Given the description of an element on the screen output the (x, y) to click on. 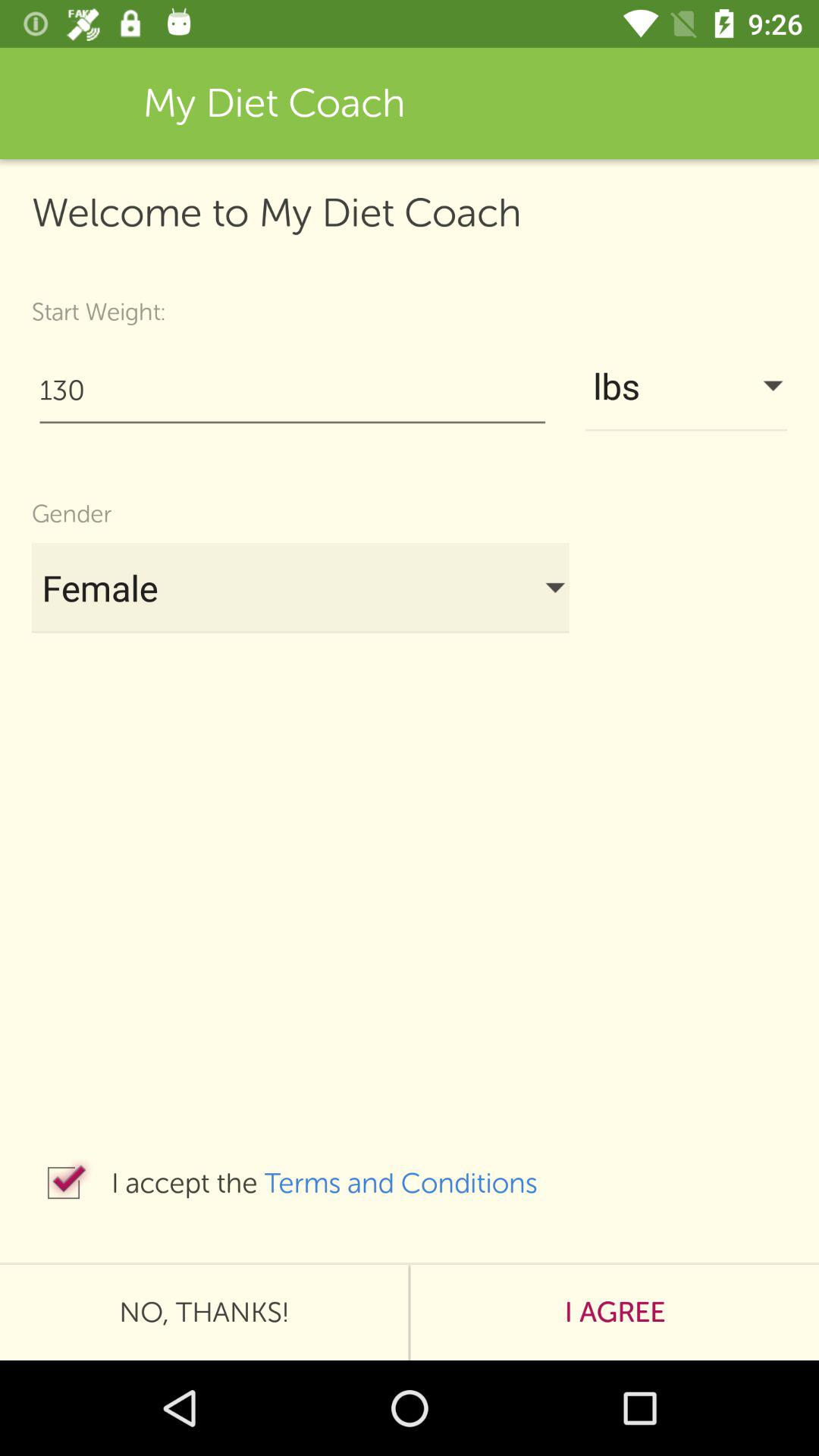
jump to 130 (292, 389)
